Given the description of an element on the screen output the (x, y) to click on. 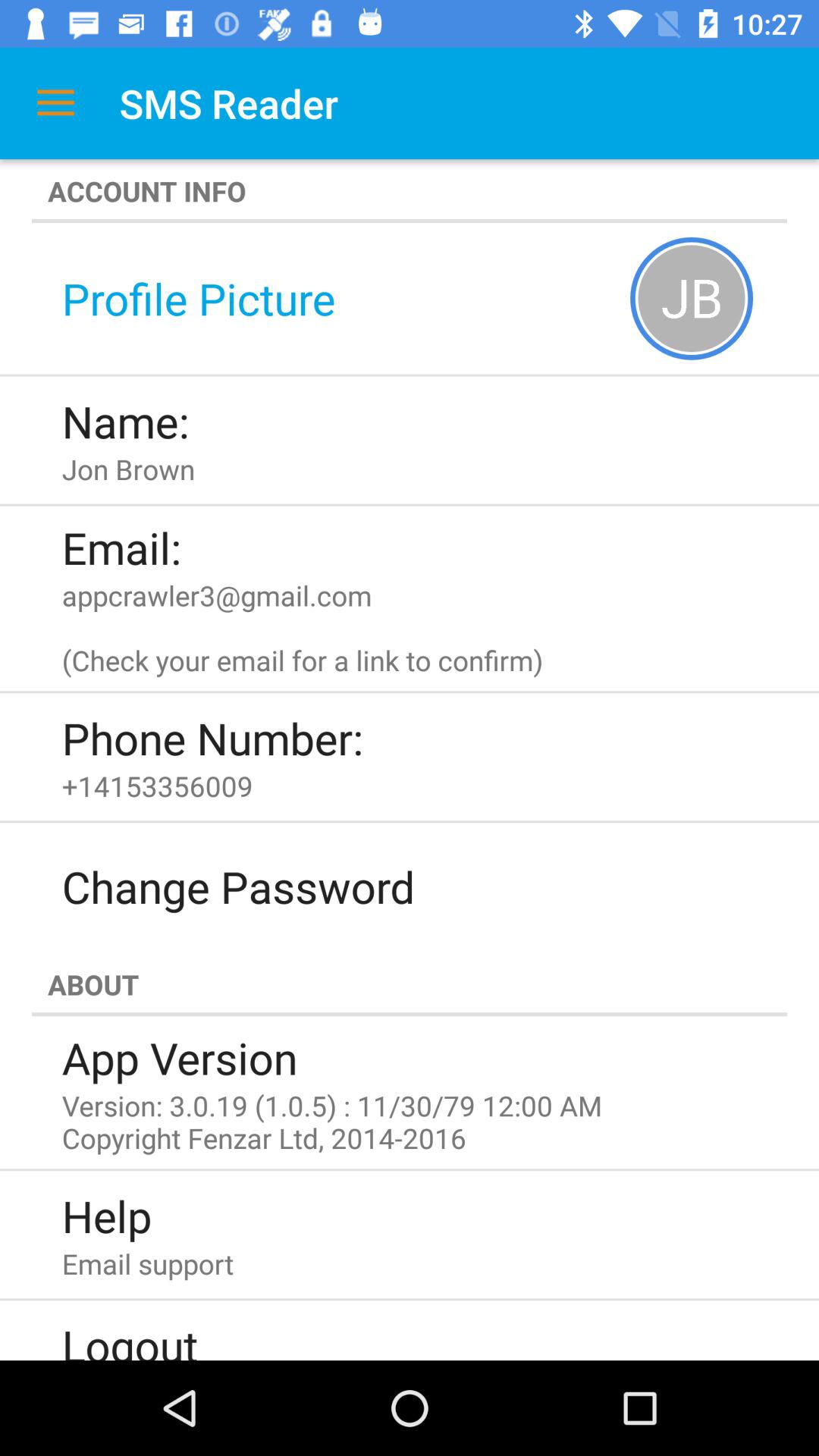
swipe until account info icon (409, 190)
